Given the description of an element on the screen output the (x, y) to click on. 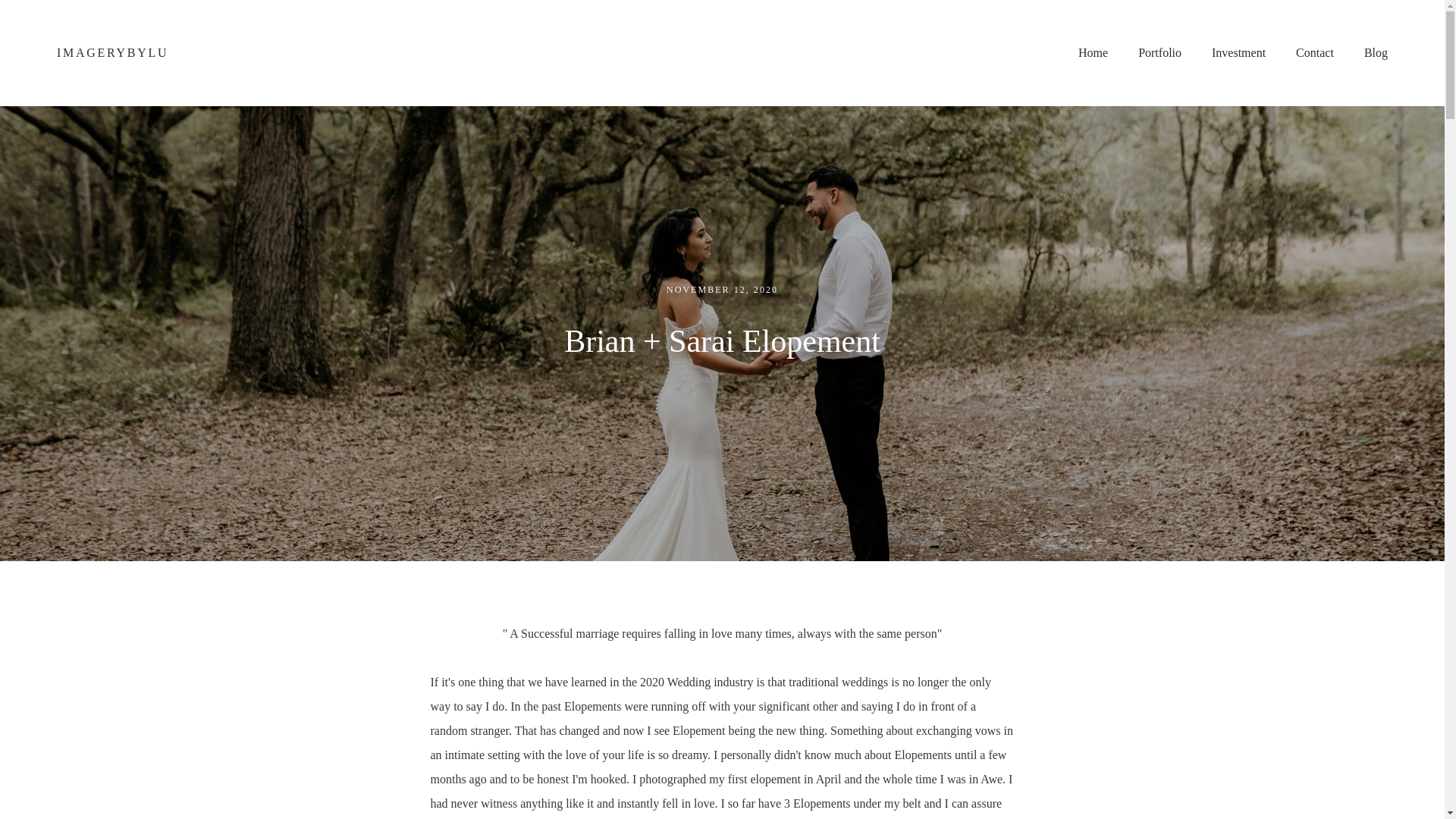
Investment (1238, 53)
Blog (1375, 53)
Contact (1314, 53)
Portfolio (1160, 53)
Home (1092, 53)
IMAGERYBYLU (112, 53)
